Given the description of an element on the screen output the (x, y) to click on. 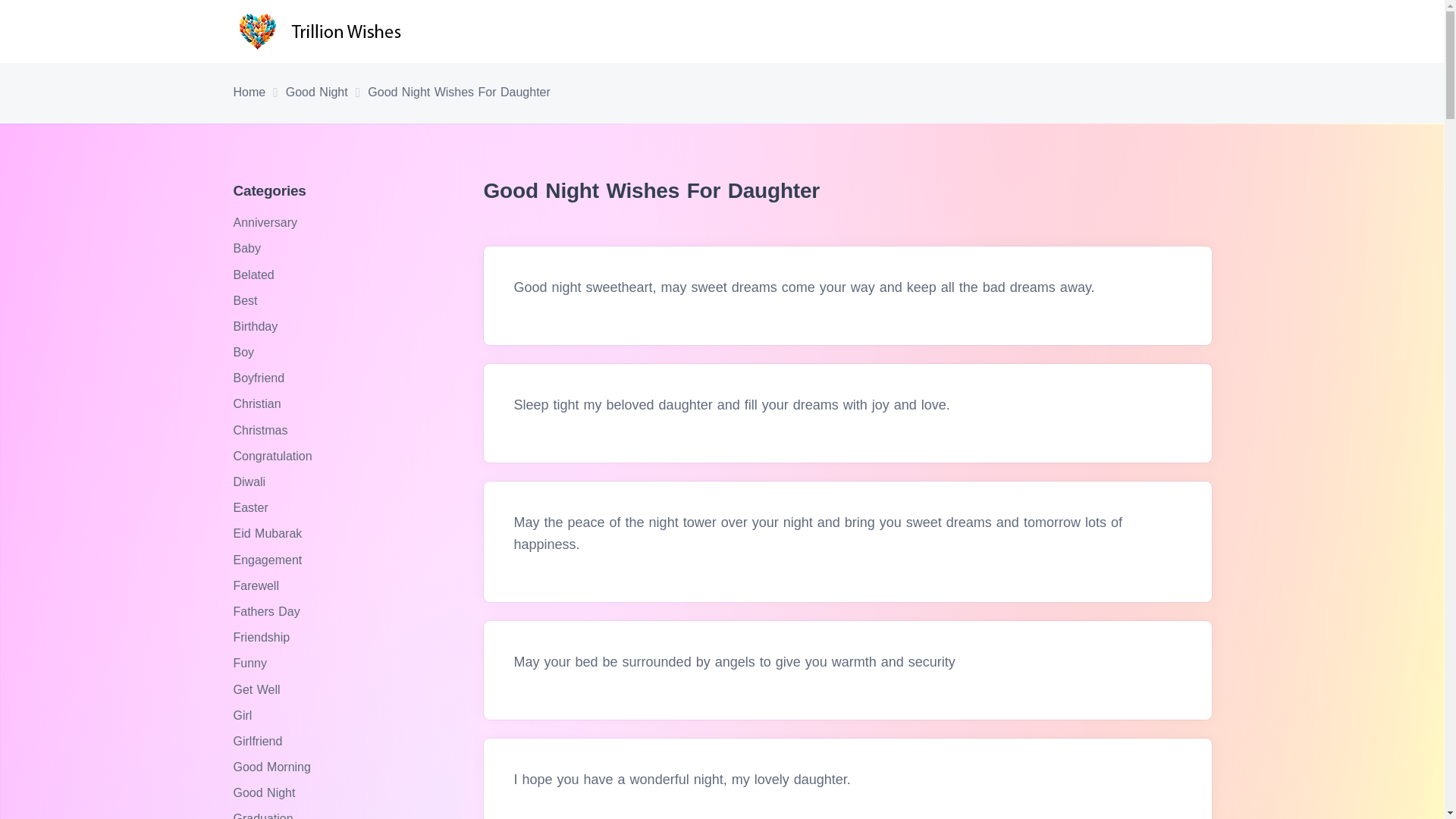
Boyfriend (260, 377)
Congratulation (273, 455)
Best (247, 300)
Christian (258, 403)
Fathers Day (268, 611)
Girl (244, 715)
Birthday (257, 326)
Friendship (263, 636)
Diwali (250, 481)
Engagement (268, 559)
Home (249, 92)
Baby (248, 247)
Christmas (262, 430)
Graduation (264, 815)
Funny (251, 662)
